Given the description of an element on the screen output the (x, y) to click on. 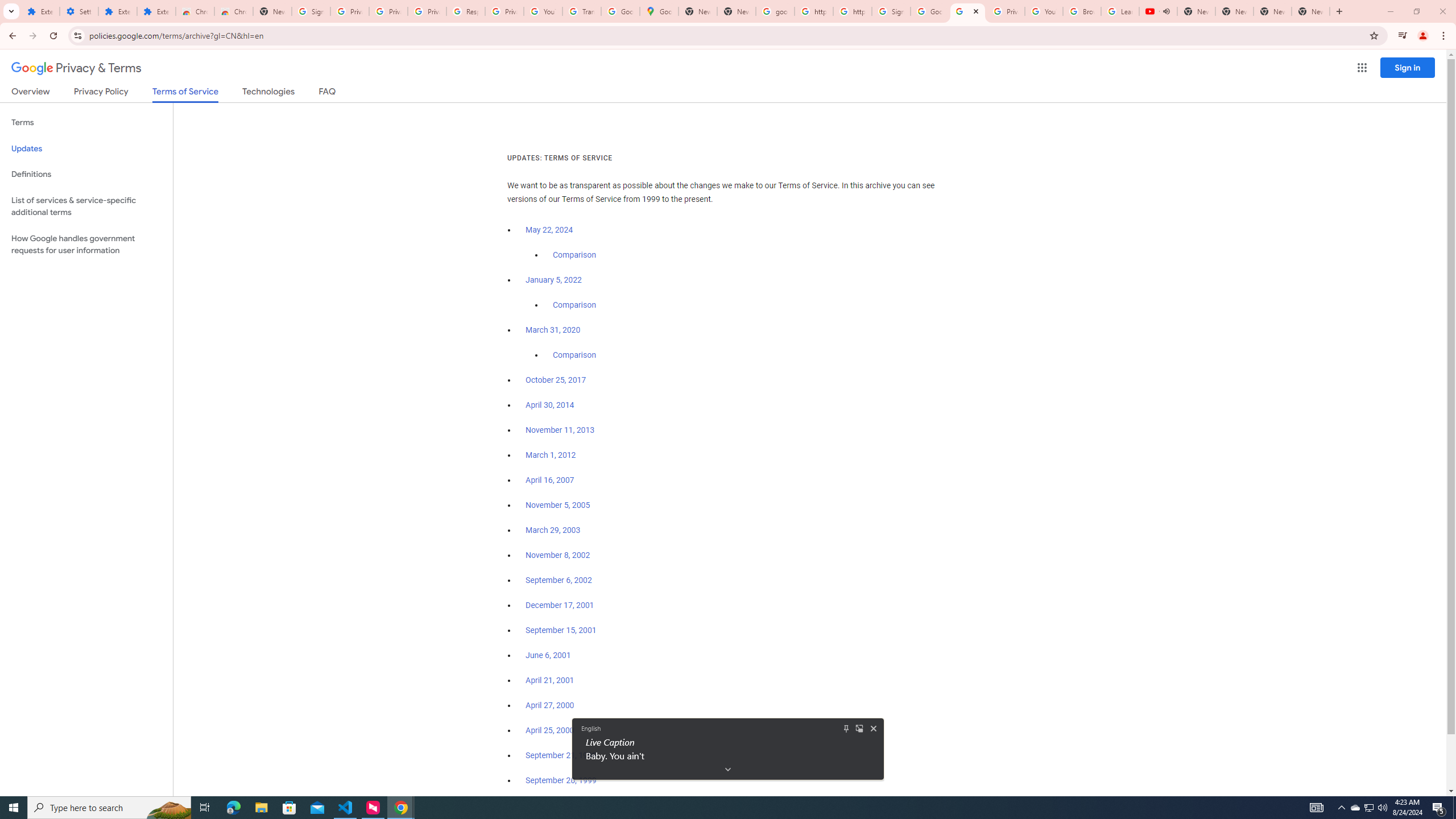
Type here to search (108, 807)
April 27, 2000 (550, 705)
Action Center, 5 new notifications (1439, 807)
November 11, 2013 (560, 430)
Visual Studio Code - 1 running window (345, 807)
Extensions (156, 11)
June 6, 2001 (547, 655)
